Given the description of an element on the screen output the (x, y) to click on. 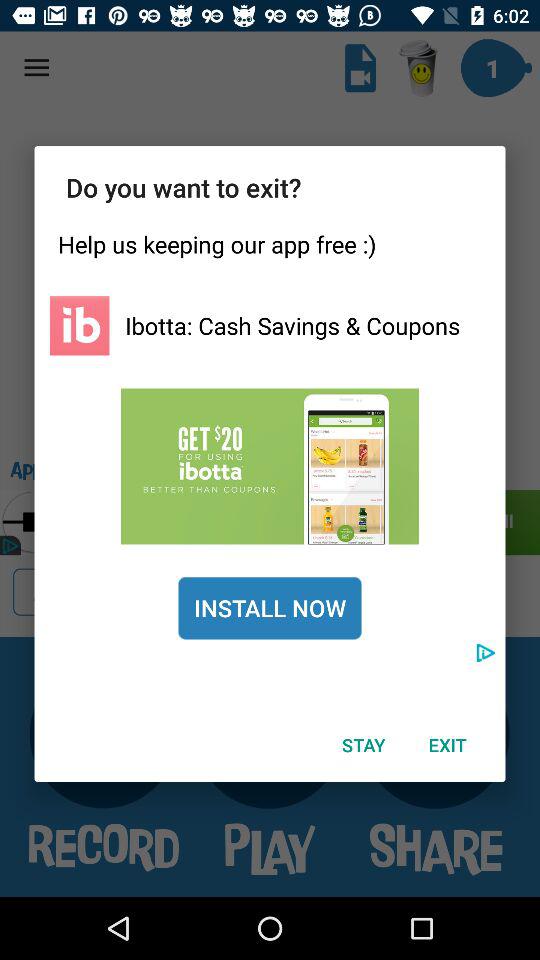
press the install now icon (269, 607)
